Given the description of an element on the screen output the (x, y) to click on. 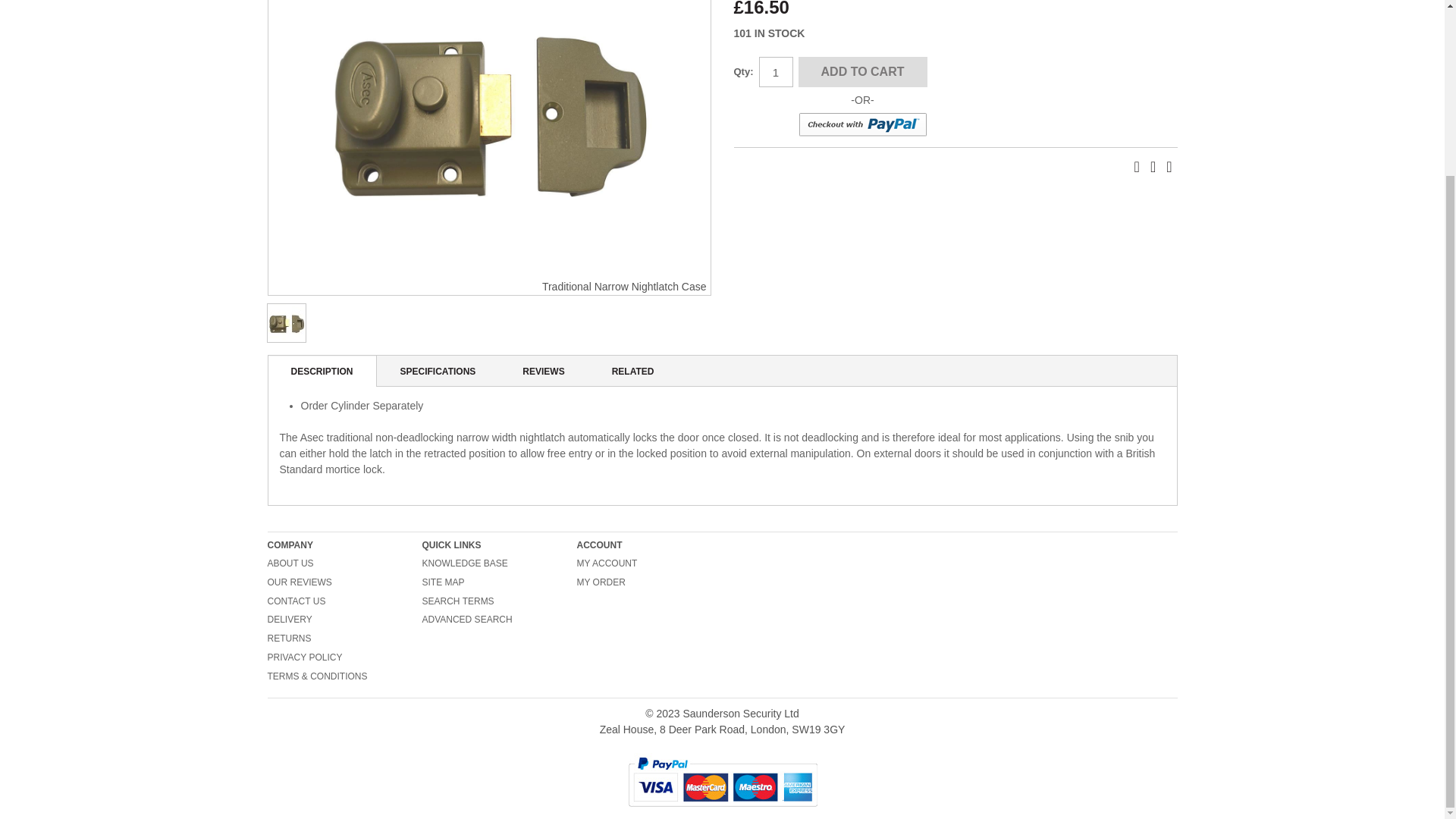
Checkout with PayPal (861, 125)
Add to Cart (861, 71)
Traditional Narrow Nightlatch Case (285, 323)
Qty (775, 71)
Traditional Narrow Nightlatch Case (488, 139)
1 (775, 71)
